Given the description of an element on the screen output the (x, y) to click on. 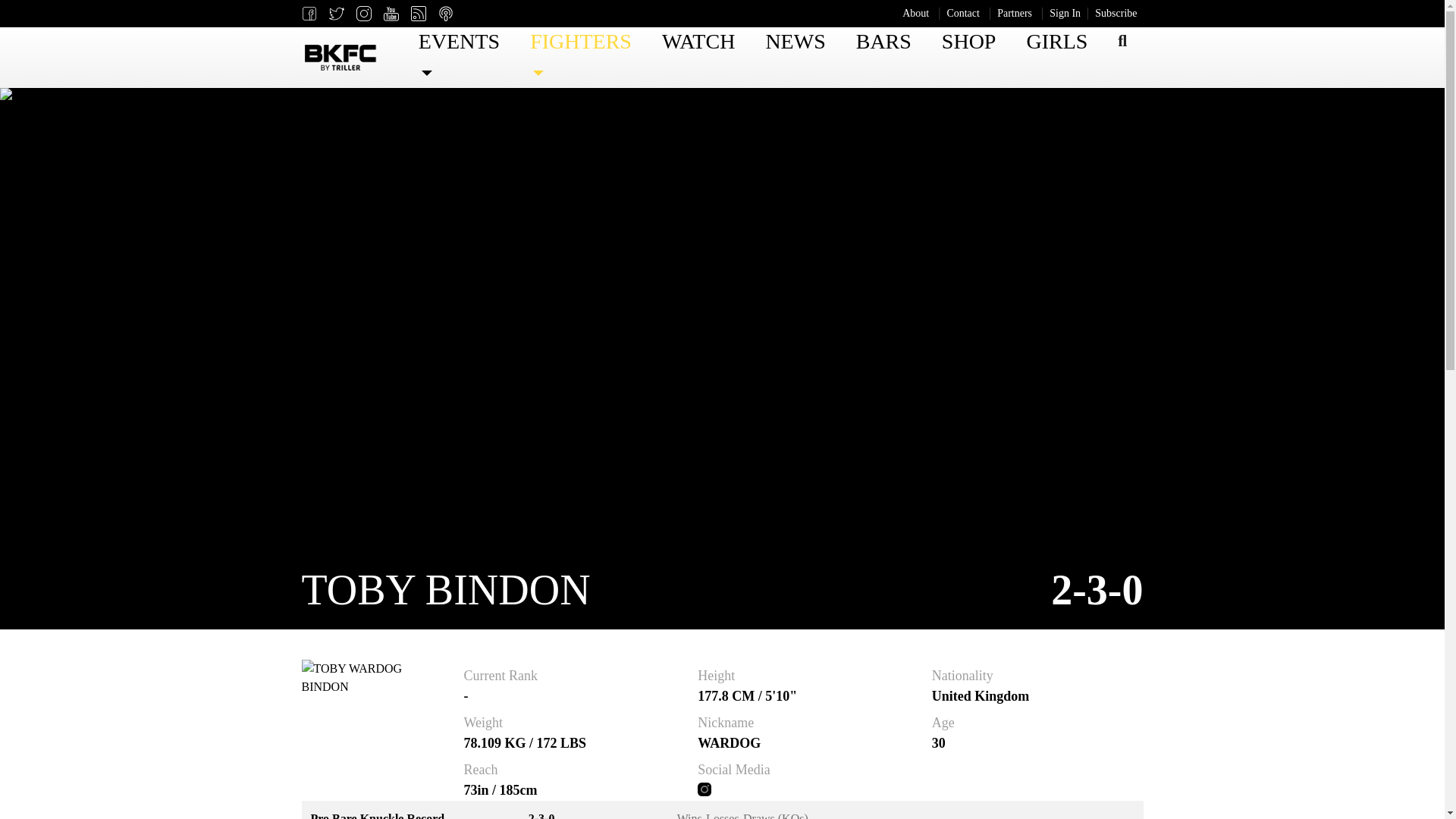
About (915, 13)
translation missing: en.reach (480, 769)
EVENTS (458, 57)
Partners (1014, 13)
translation missing: en.contact  (962, 12)
Sign In (1064, 13)
translation missing: en.about  (915, 12)
Contact (962, 13)
translation missing: en.bars (883, 41)
Subscribe (1115, 13)
